Given the description of an element on the screen output the (x, y) to click on. 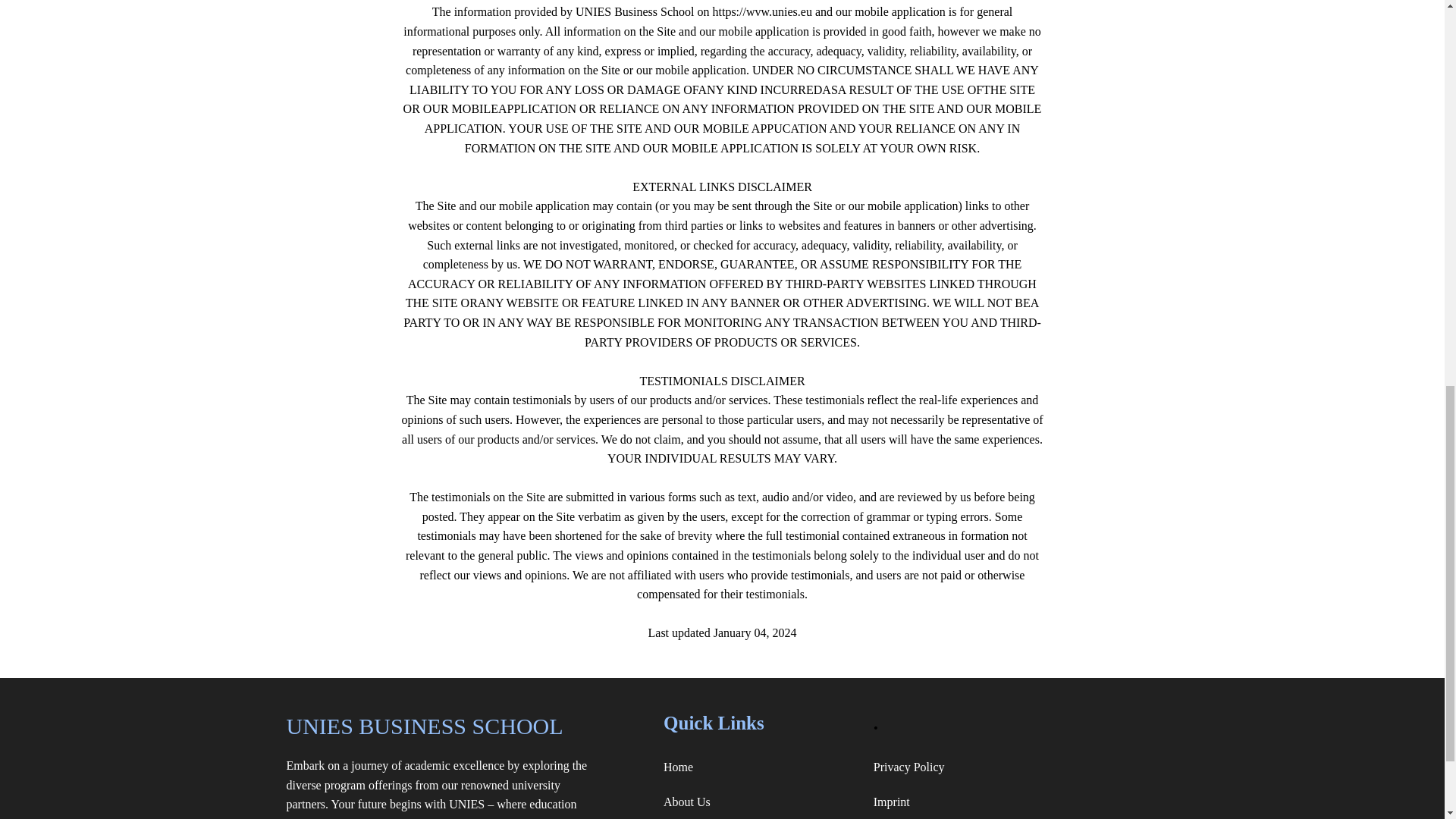
Imprint (1015, 801)
About Us (761, 801)
Privacy Policy (1015, 767)
Home (761, 767)
UNIES BUSINESS SCHOOL (445, 726)
